Given the description of an element on the screen output the (x, y) to click on. 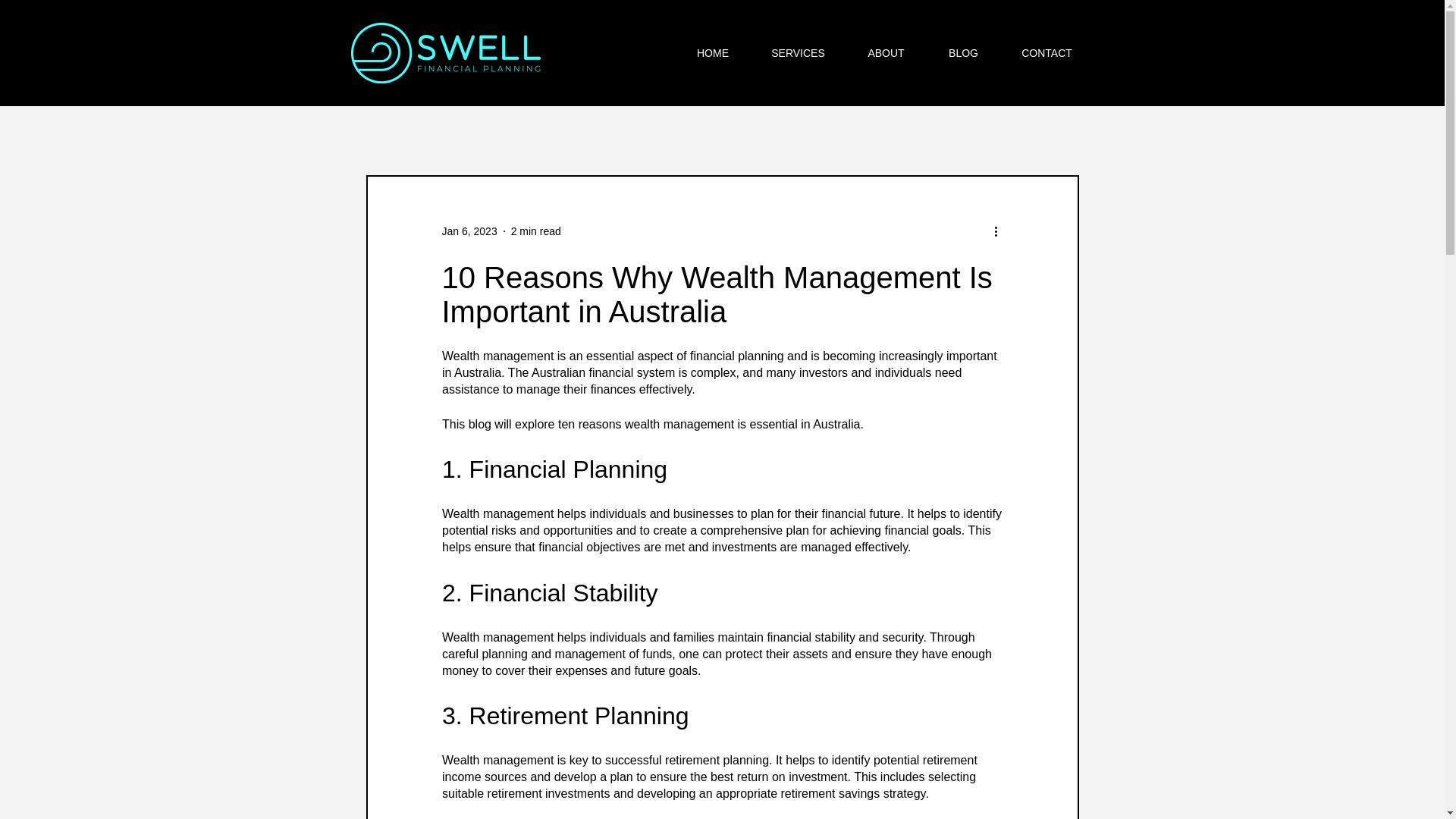
2 min read (535, 230)
ABOUT (885, 52)
SERVICES (798, 52)
Jan 6, 2023 (468, 230)
HOME (712, 52)
BLOG (963, 52)
CONTACT (1045, 52)
